Given the description of an element on the screen output the (x, y) to click on. 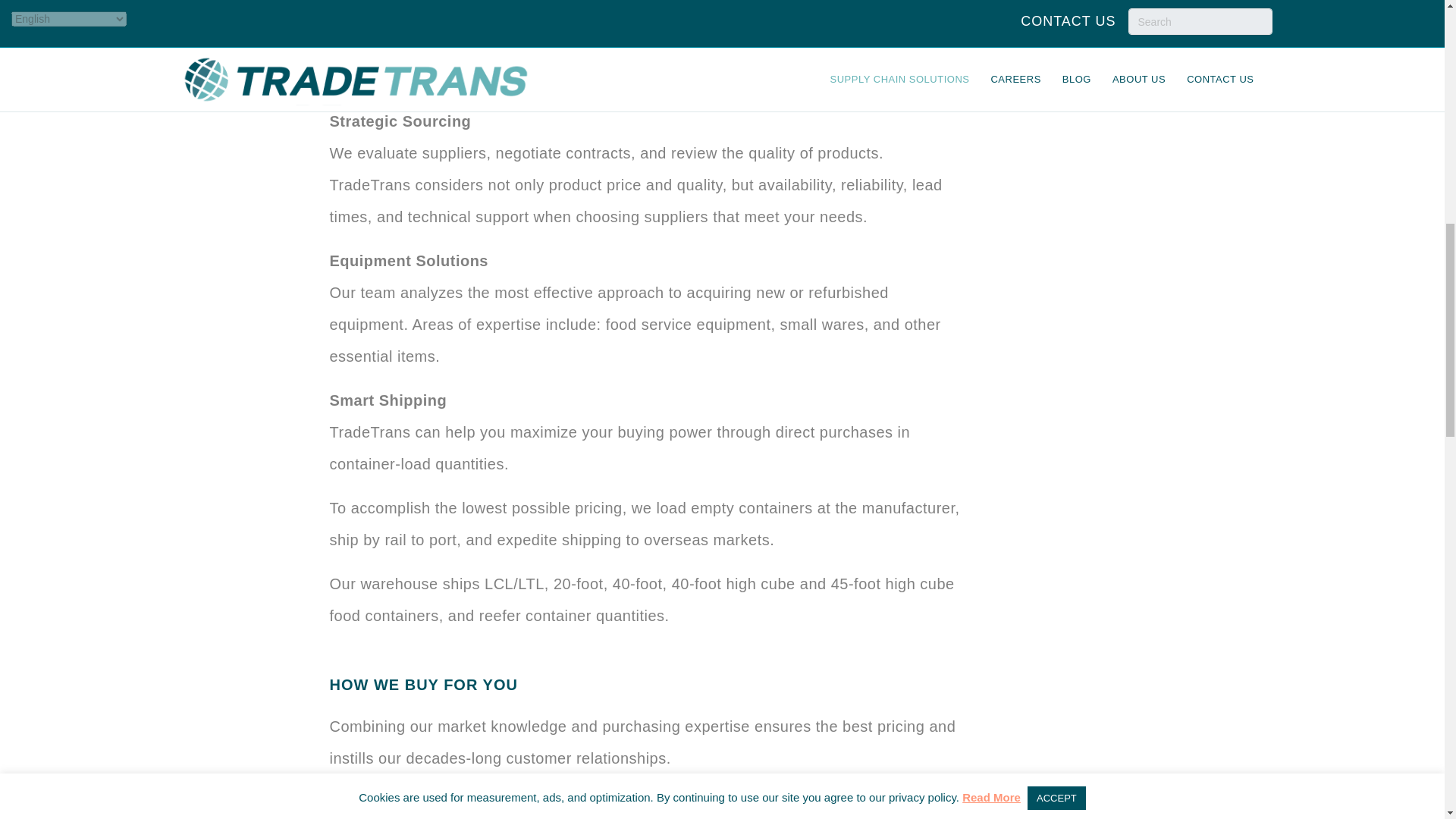
CONTACT TRADETRANS WITH YOUR REQUEST! (721, 21)
